Given the description of an element on the screen output the (x, y) to click on. 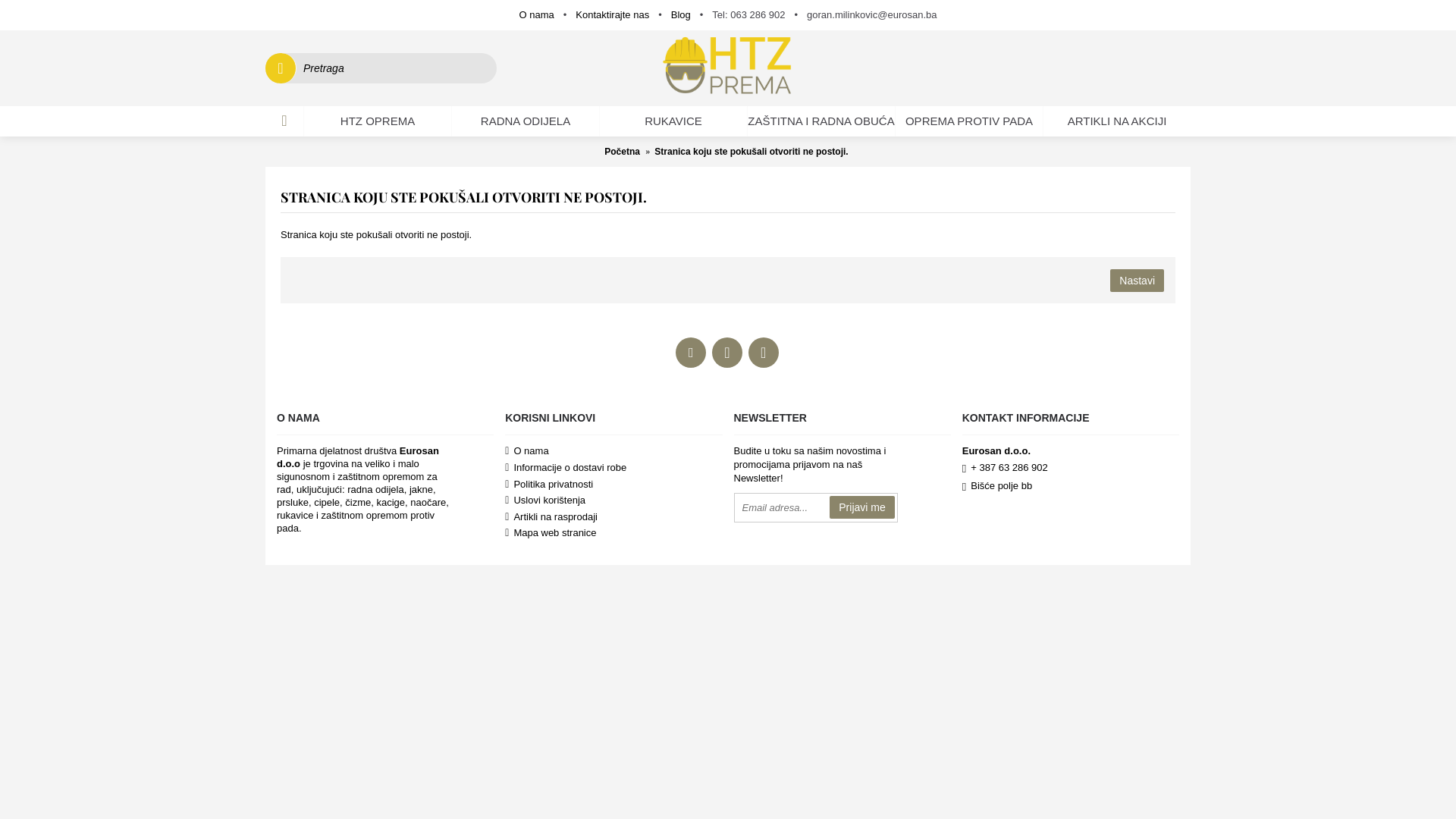
Mapa web stranice Element type: text (613, 533)
O nama Element type: text (613, 451)
Prijavi me Element type: text (861, 506)
Artikli na rasprodaji Element type: text (613, 517)
RADNA ODIJELA Element type: text (525, 121)
Politika privatnosti Element type: text (613, 484)
HTZ OPREMA Element type: text (377, 121)
O nama Element type: text (536, 15)
OPREMA PROTIV PADA Element type: text (968, 121)
RUKAVICE Element type: text (672, 121)
Blog Element type: text (680, 15)
Informacije o dostavi robe Element type: text (613, 468)
Kontaktirajte nas Element type: text (612, 15)
ARTIKLI NA AKCIJI Element type: text (1116, 121)
HTZ oprema Element type: hover (727, 68)
Nastavi Element type: text (1137, 280)
